Given the description of an element on the screen output the (x, y) to click on. 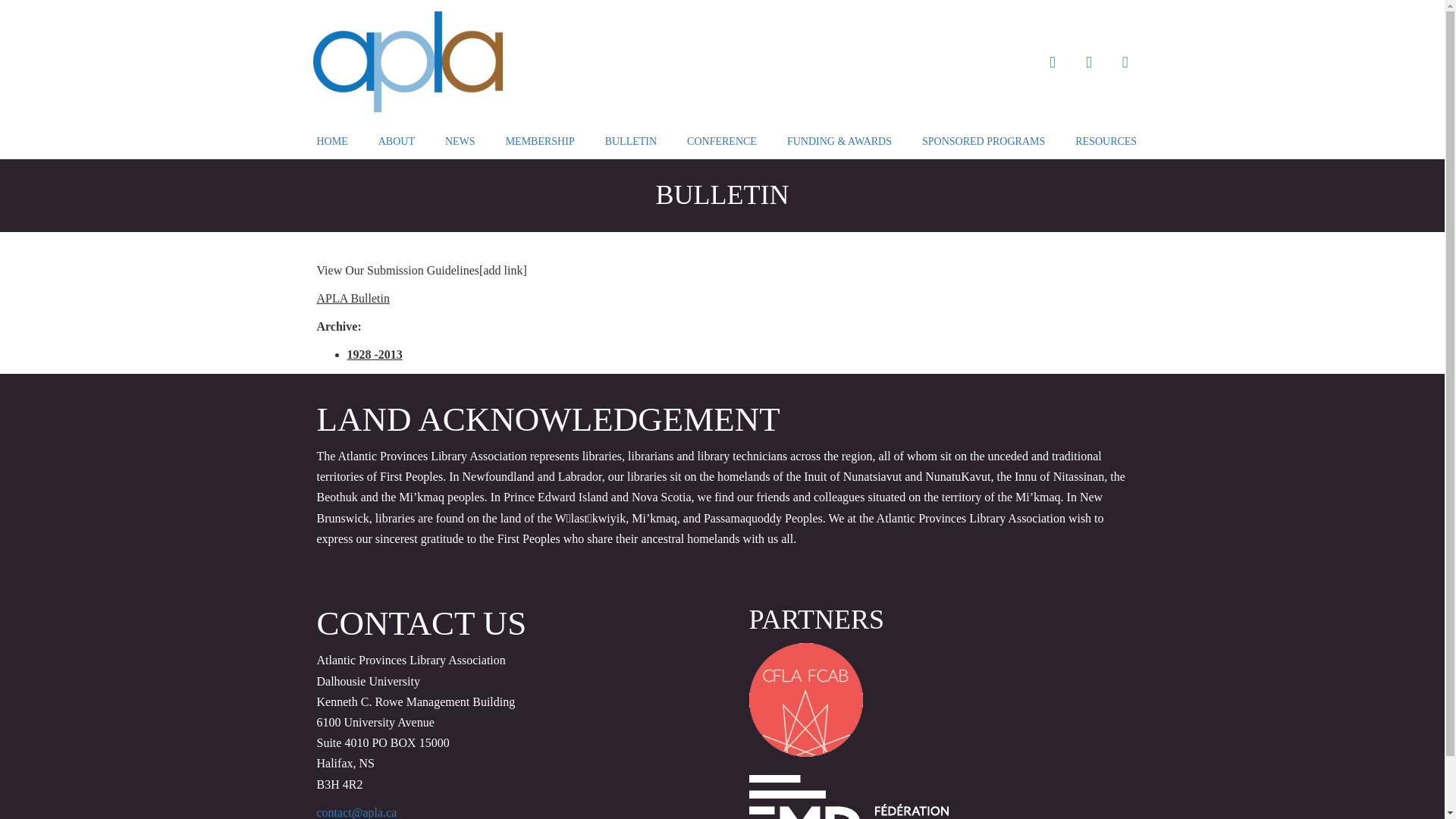
ABOUT Element type: text (396, 141)
NEWS Element type: text (459, 141)
APLA Bulletin Element type: text (352, 297)
twitter Element type: text (1088, 61)
instagram Element type: text (1125, 61)
MEMBERSHIP Element type: text (539, 141)
HOME Element type: text (332, 141)
1928 -2013 Element type: text (374, 354)
RESOURCES Element type: text (1105, 141)
SPONSORED PROGRAMS Element type: text (983, 141)
Partners Element type: hover (805, 699)
facebook Element type: text (1052, 61)
CONFERENCE Element type: text (721, 141)
FUNDING & AWARDS Element type: text (838, 141)
BULLETIN Element type: text (630, 141)
